Given the description of an element on the screen output the (x, y) to click on. 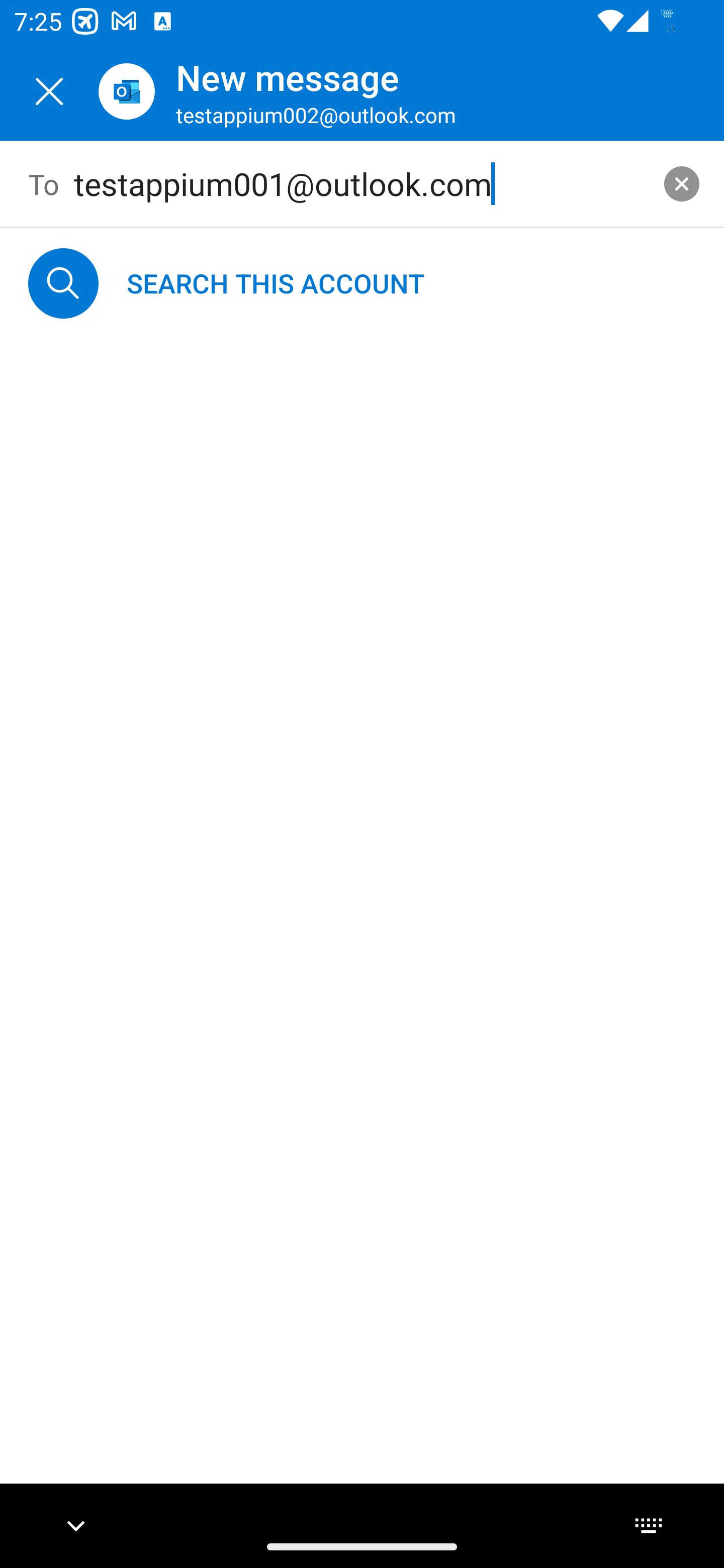
Close (49, 91)
testappium001@outlook.com (362, 184)
clear search (681, 183)
